Given the description of an element on the screen output the (x, y) to click on. 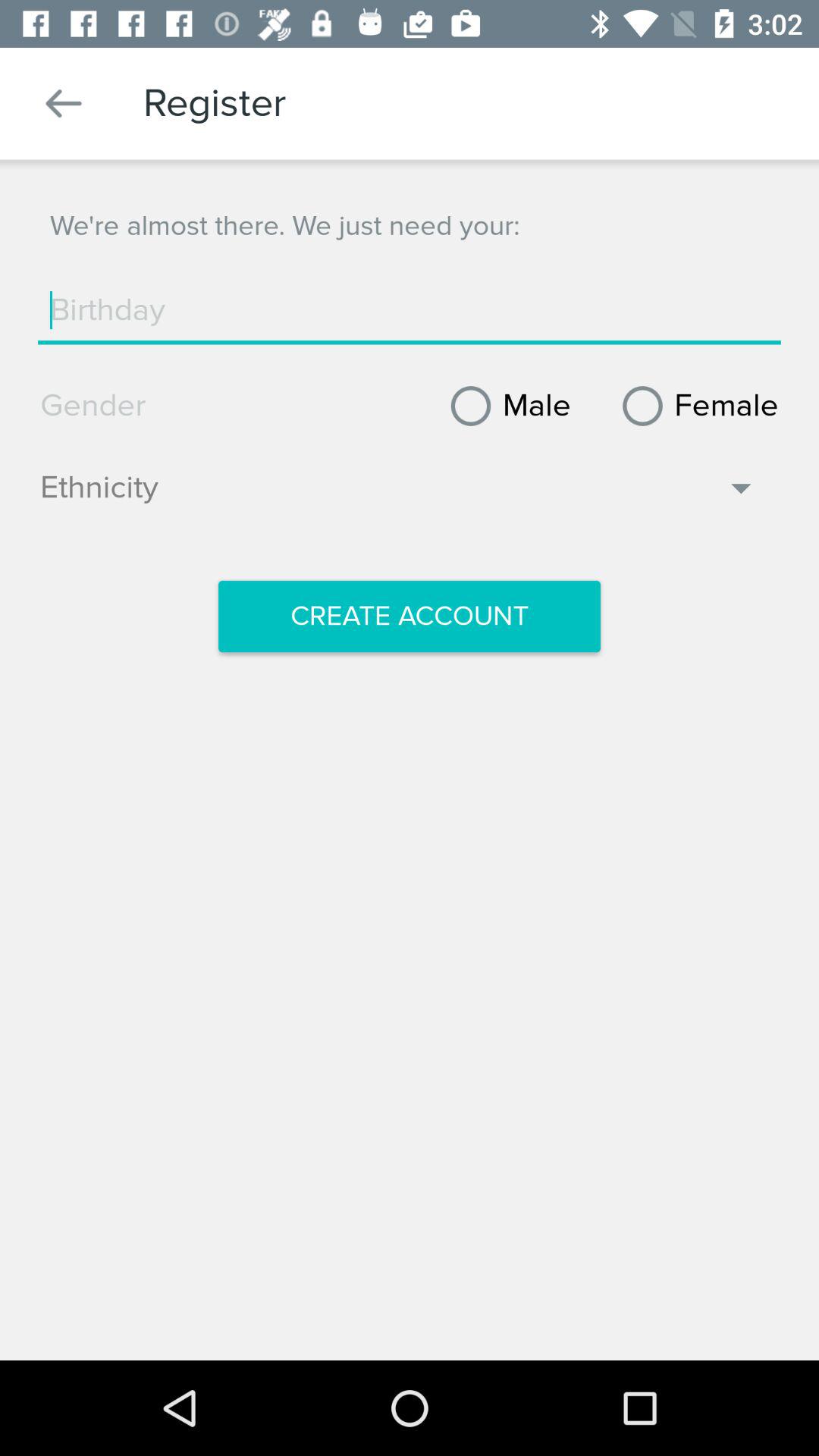
swipe to the male icon (505, 405)
